Given the description of an element on the screen output the (x, y) to click on. 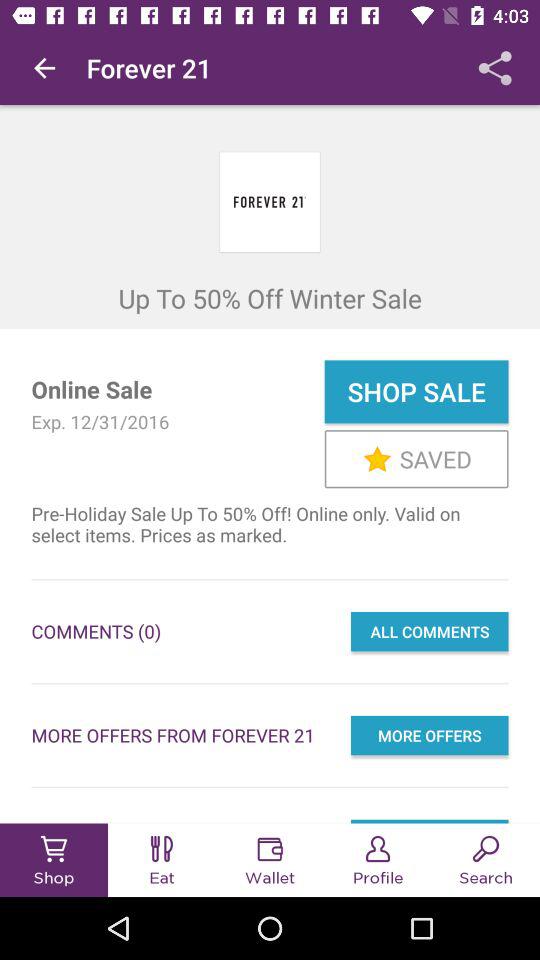
open the shop sale item (416, 391)
